Given the description of an element on the screen output the (x, y) to click on. 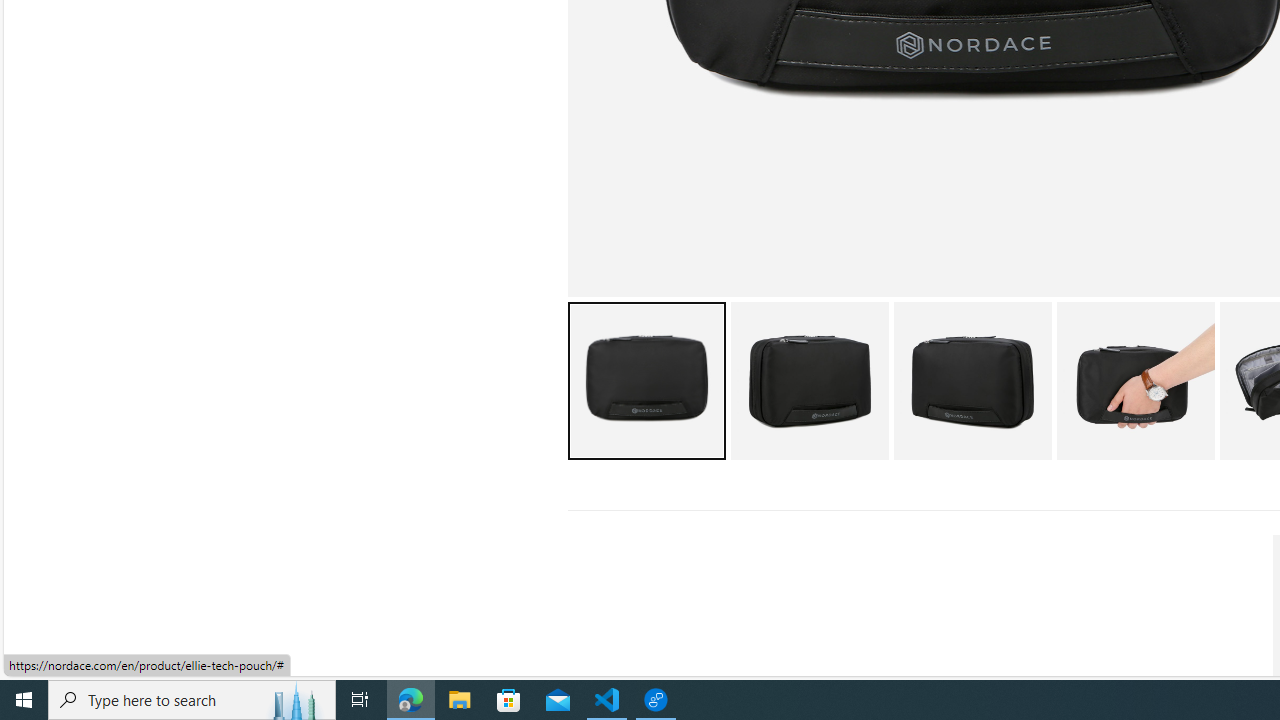
Nordace Ellie Tech Pouch (1135, 380)
